Given the description of an element on the screen output the (x, y) to click on. 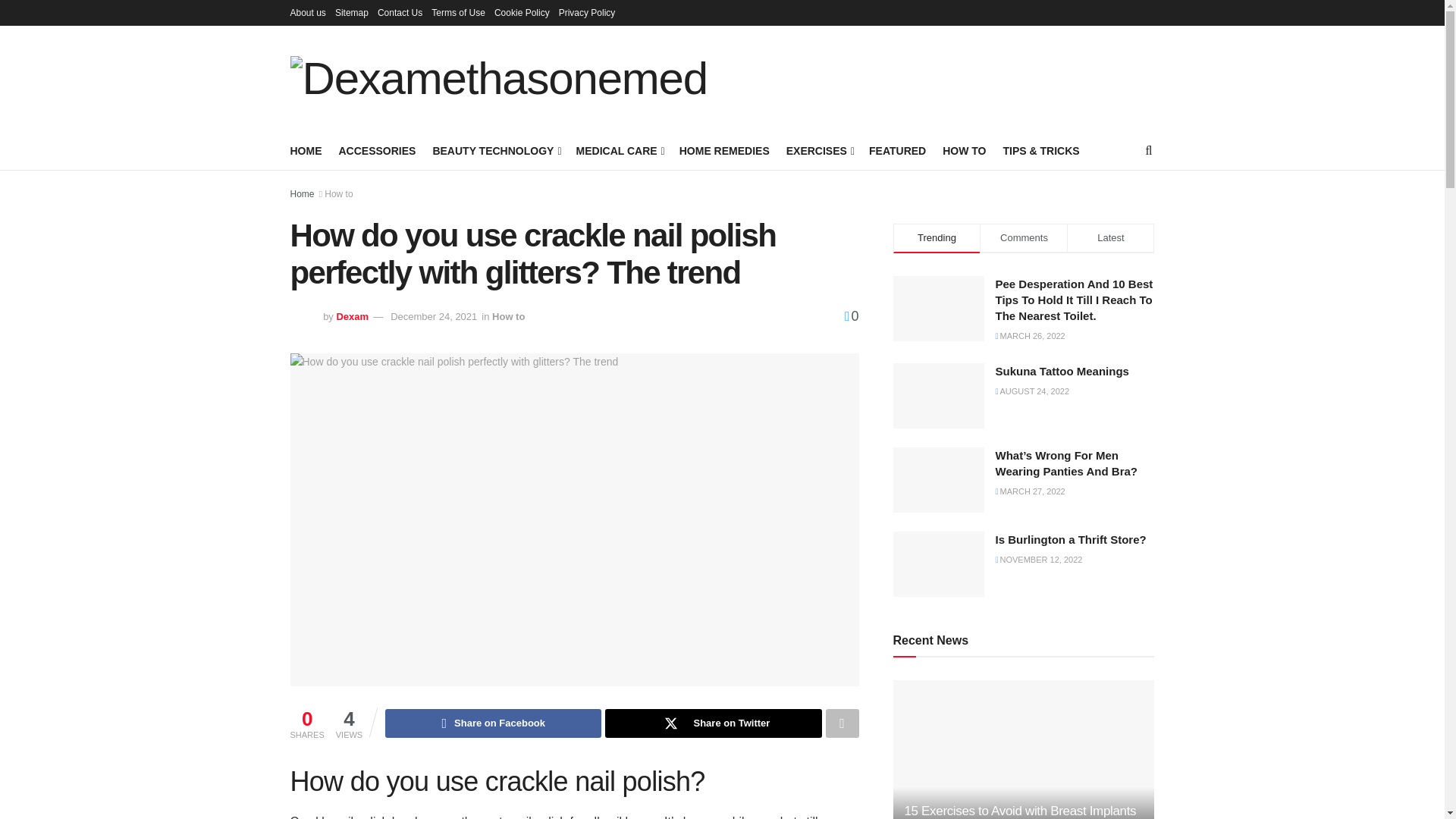
Contact Us (399, 12)
Sitemap (351, 12)
FEATURED (897, 150)
Privacy Policy (587, 12)
HOME REMEDIES (724, 150)
Terms of Use (457, 12)
HOW TO (963, 150)
About us (306, 12)
EXERCISES (818, 150)
ACCESSORIES (375, 150)
